Given the description of an element on the screen output the (x, y) to click on. 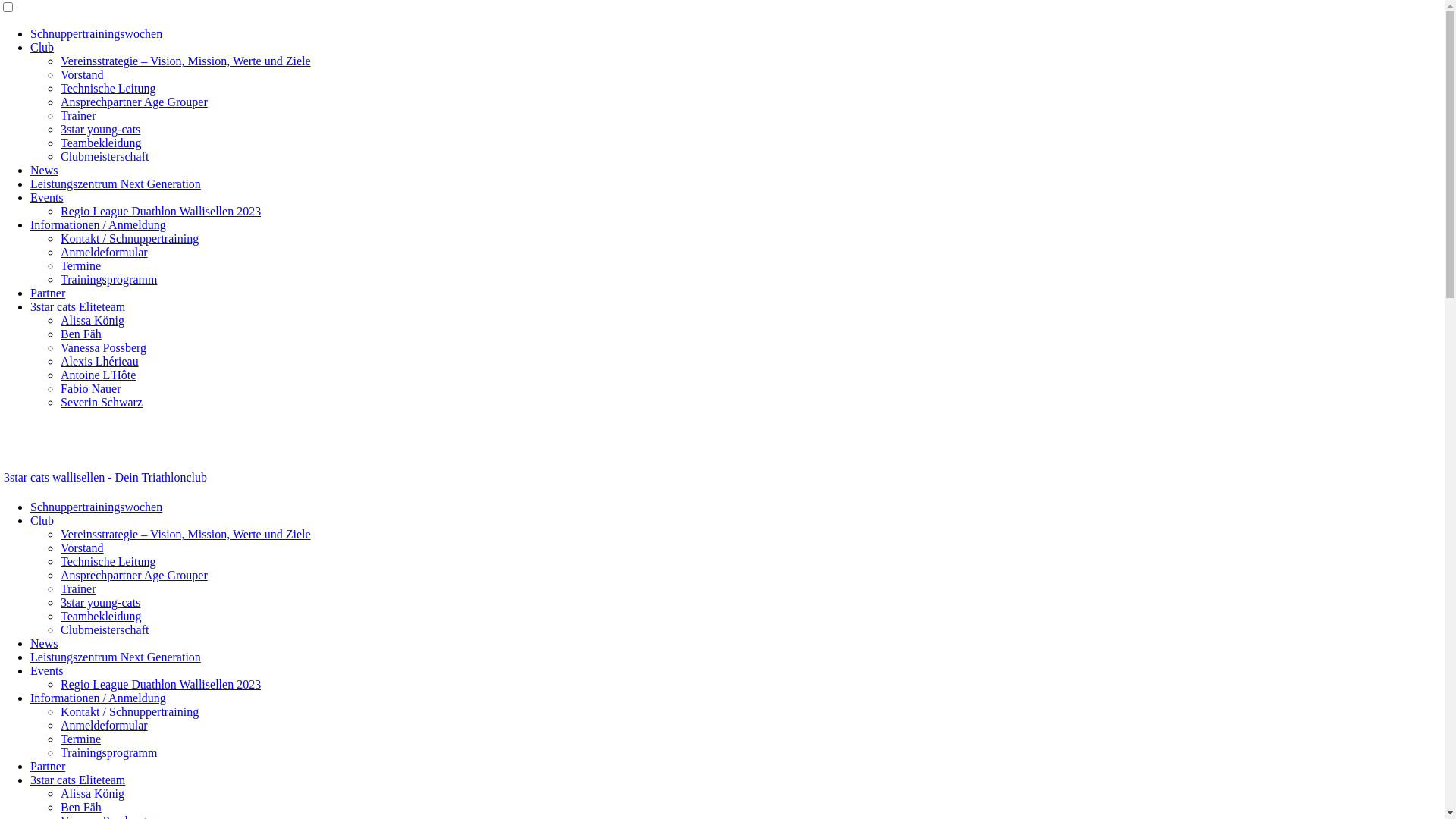
News Element type: text (43, 169)
3star young-cats Element type: text (100, 128)
Ansprechpartner Age Grouper Element type: text (133, 574)
Trainer Element type: text (78, 588)
3star cats Eliteteam Element type: text (77, 779)
Schnuppertrainingswochen Element type: text (96, 506)
Partner Element type: text (47, 765)
Severin Schwarz Element type: text (101, 401)
Technische Leitung Element type: text (108, 561)
Trainer Element type: text (78, 115)
Partner Element type: text (47, 292)
Regio League Duathlon Wallisellen 2023 Element type: text (160, 683)
Vorstand Element type: text (81, 74)
Termine Element type: text (80, 738)
Anmeldeformular Element type: text (103, 724)
Teambekleidung Element type: text (100, 142)
3star cats Eliteteam Element type: text (77, 306)
Events Element type: text (46, 670)
Clubmeisterschaft Element type: text (104, 629)
Informationen / Anmeldung Element type: text (98, 697)
Vanessa Possberg Element type: text (103, 347)
3star cats wallisellen - Dein Triathlonclub Element type: text (105, 476)
Events Element type: text (46, 197)
Teambekleidung Element type: text (100, 615)
Informationen / Anmeldung Element type: text (98, 224)
Trainingsprogramm Element type: text (108, 752)
Fabio Nauer Element type: text (90, 388)
Trainingsprogramm Element type: text (108, 279)
Termine Element type: text (80, 265)
News Element type: text (43, 643)
Ansprechpartner Age Grouper Element type: text (133, 101)
Regio League Duathlon Wallisellen 2023 Element type: text (160, 210)
Anmeldeformular Element type: text (103, 251)
Clubmeisterschaft Element type: text (104, 156)
Leistungszentrum Next Generation Element type: text (115, 183)
Technische Leitung Element type: text (108, 87)
Club Element type: text (41, 520)
Kontakt / Schnuppertraining Element type: text (129, 711)
Schnuppertrainingswochen Element type: text (96, 33)
Kontakt / Schnuppertraining Element type: text (129, 238)
Leistungszentrum Next Generation Element type: text (115, 656)
3star young-cats Element type: text (100, 602)
Vorstand Element type: text (81, 547)
Club Element type: text (41, 46)
